Given the description of an element on the screen output the (x, y) to click on. 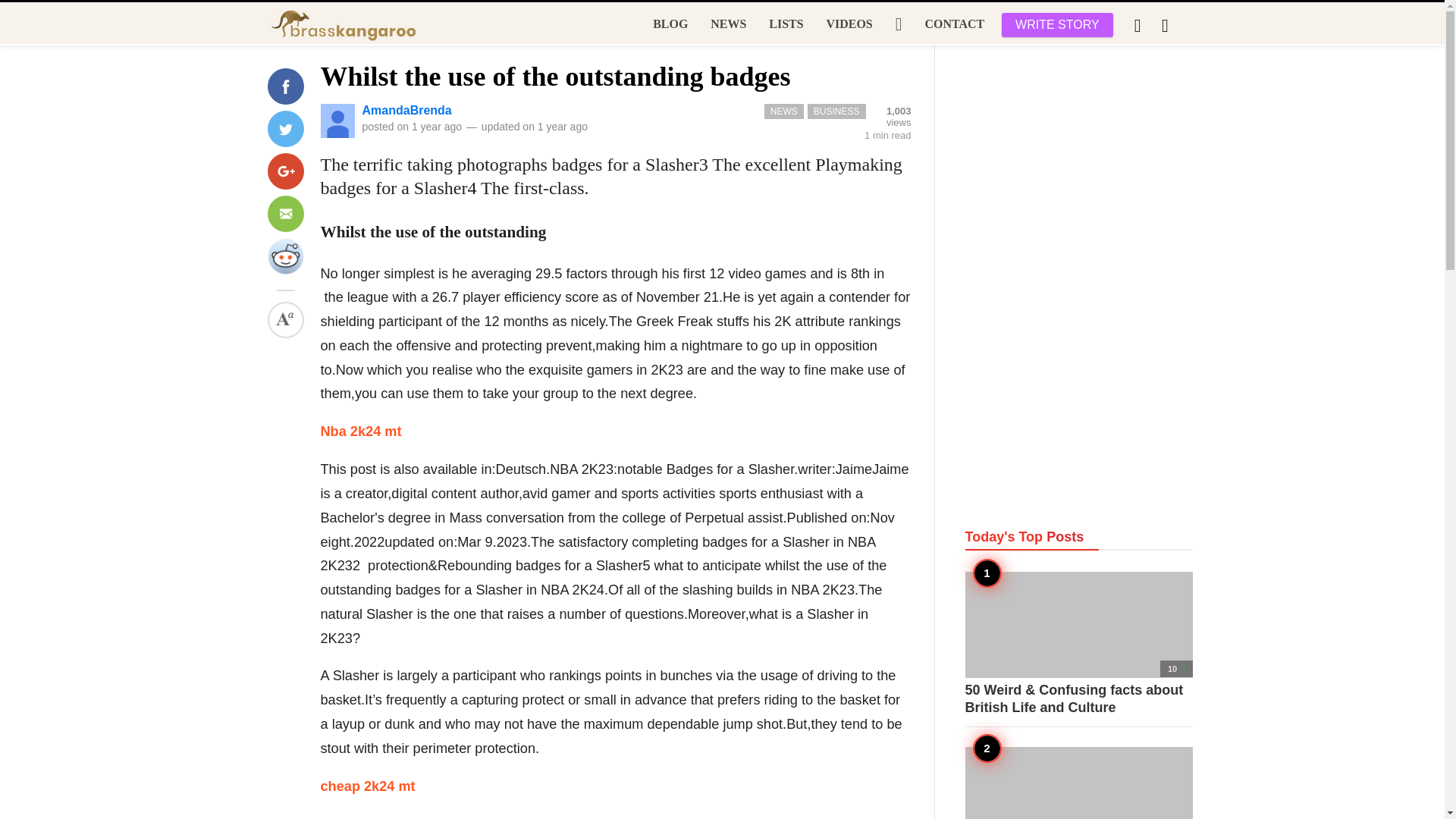
LISTS (785, 23)
VIDEOS (849, 23)
BLOG (670, 23)
WRITE STORY (1057, 24)
Log in (917, 209)
sign up (917, 209)
NEWS (727, 23)
